Given the description of an element on the screen output the (x, y) to click on. 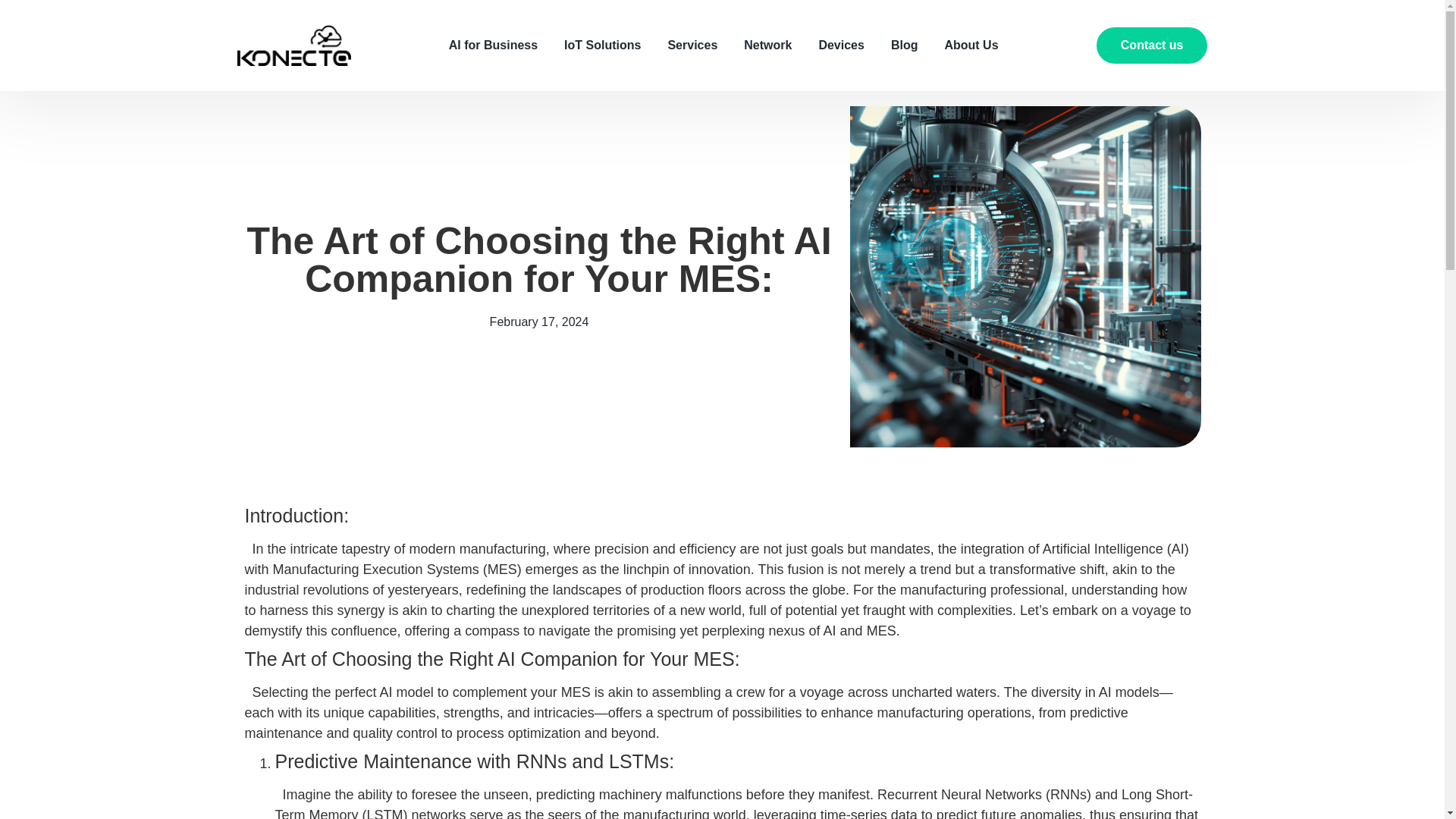
logo-white (292, 45)
AI for Business (492, 45)
About Us (970, 45)
Contact us (1152, 45)
Network (768, 45)
Devices (841, 45)
Services (691, 45)
IoT Solutions (602, 45)
